Given the description of an element on the screen output the (x, y) to click on. 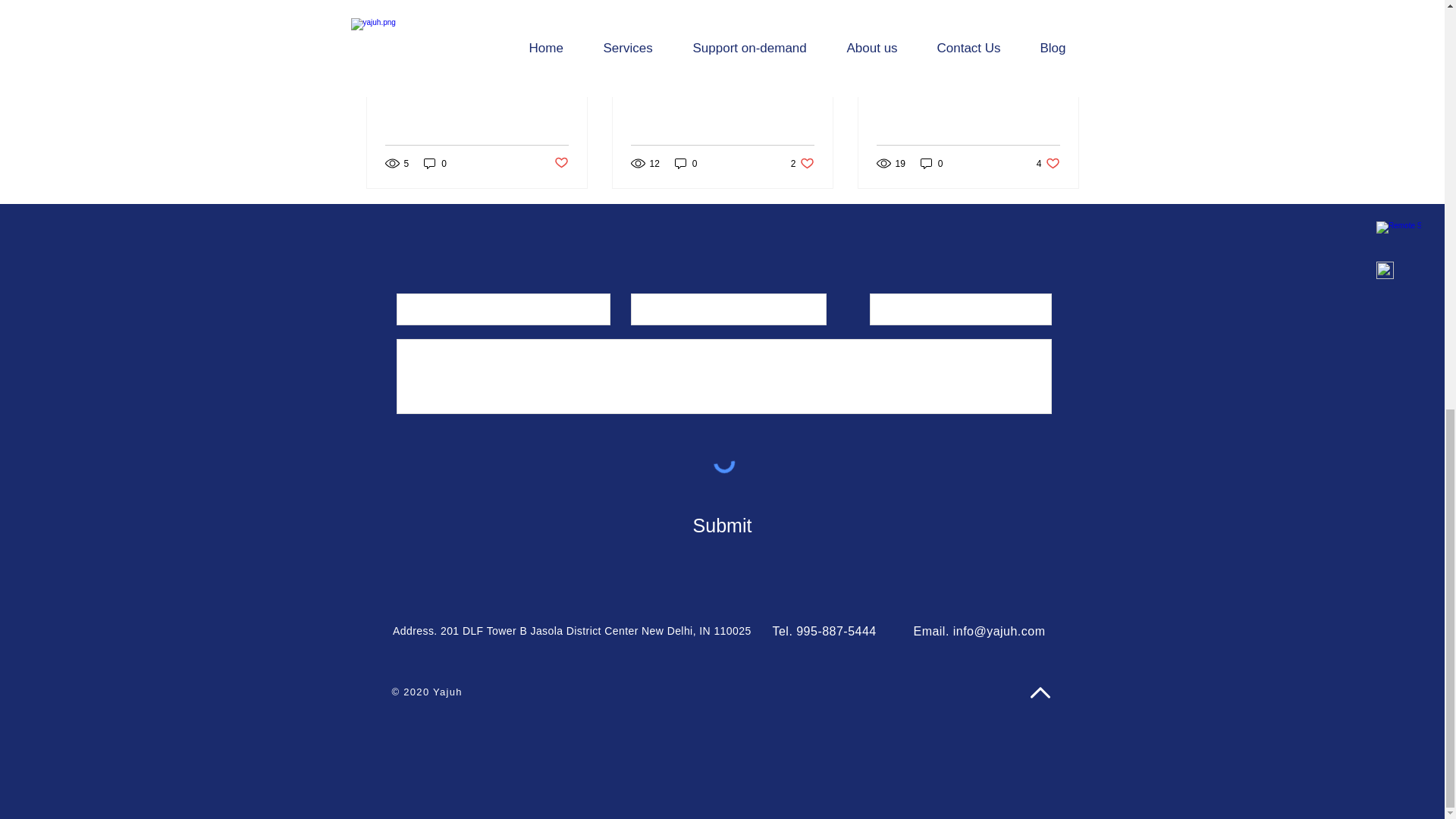
0 (931, 163)
Post not marked as liked (1047, 163)
Submit (560, 163)
0 (722, 526)
How managed IT services add value to your business (435, 163)
0 (801, 163)
